Given the description of an element on the screen output the (x, y) to click on. 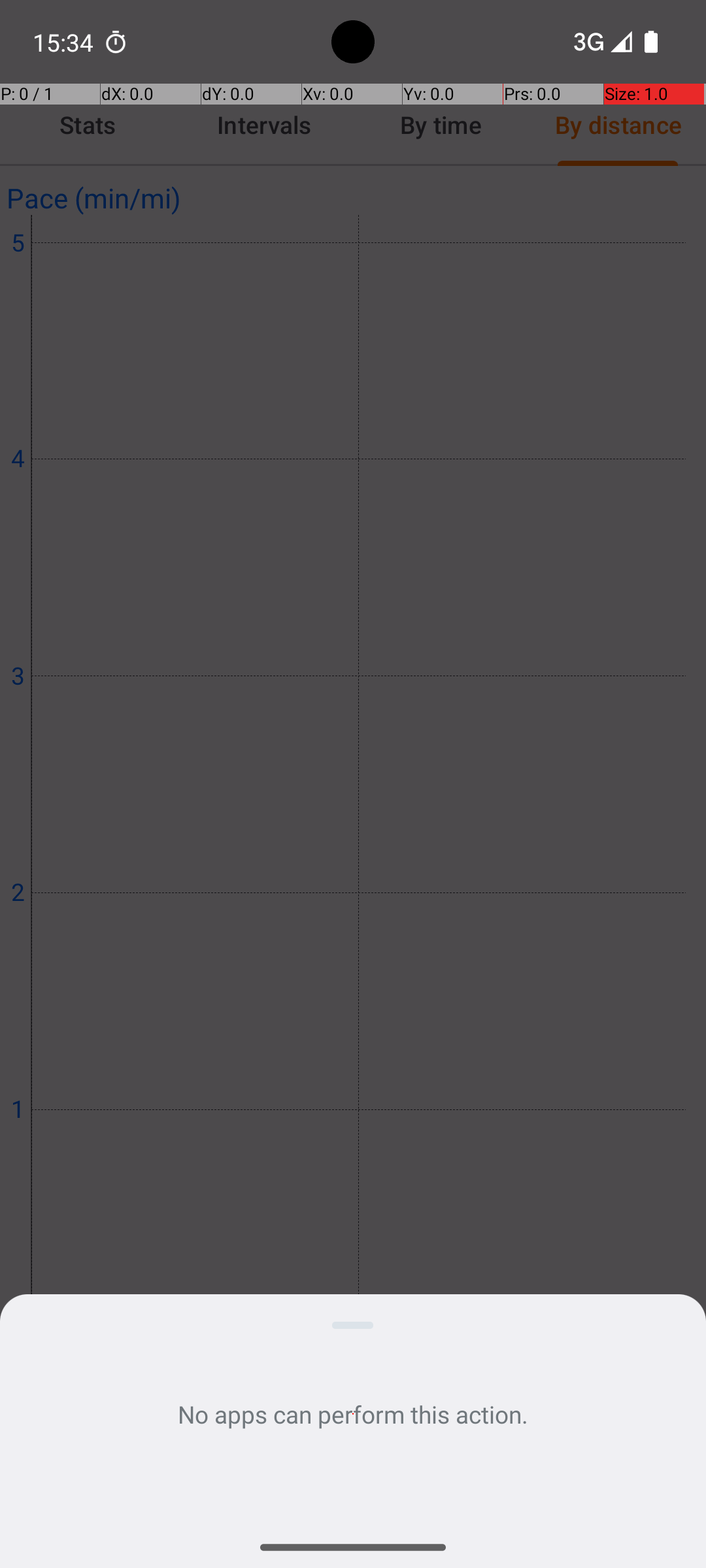
No apps can perform this action. Element type: android.widget.TextView (352, 1413)
